Given the description of an element on the screen output the (x, y) to click on. 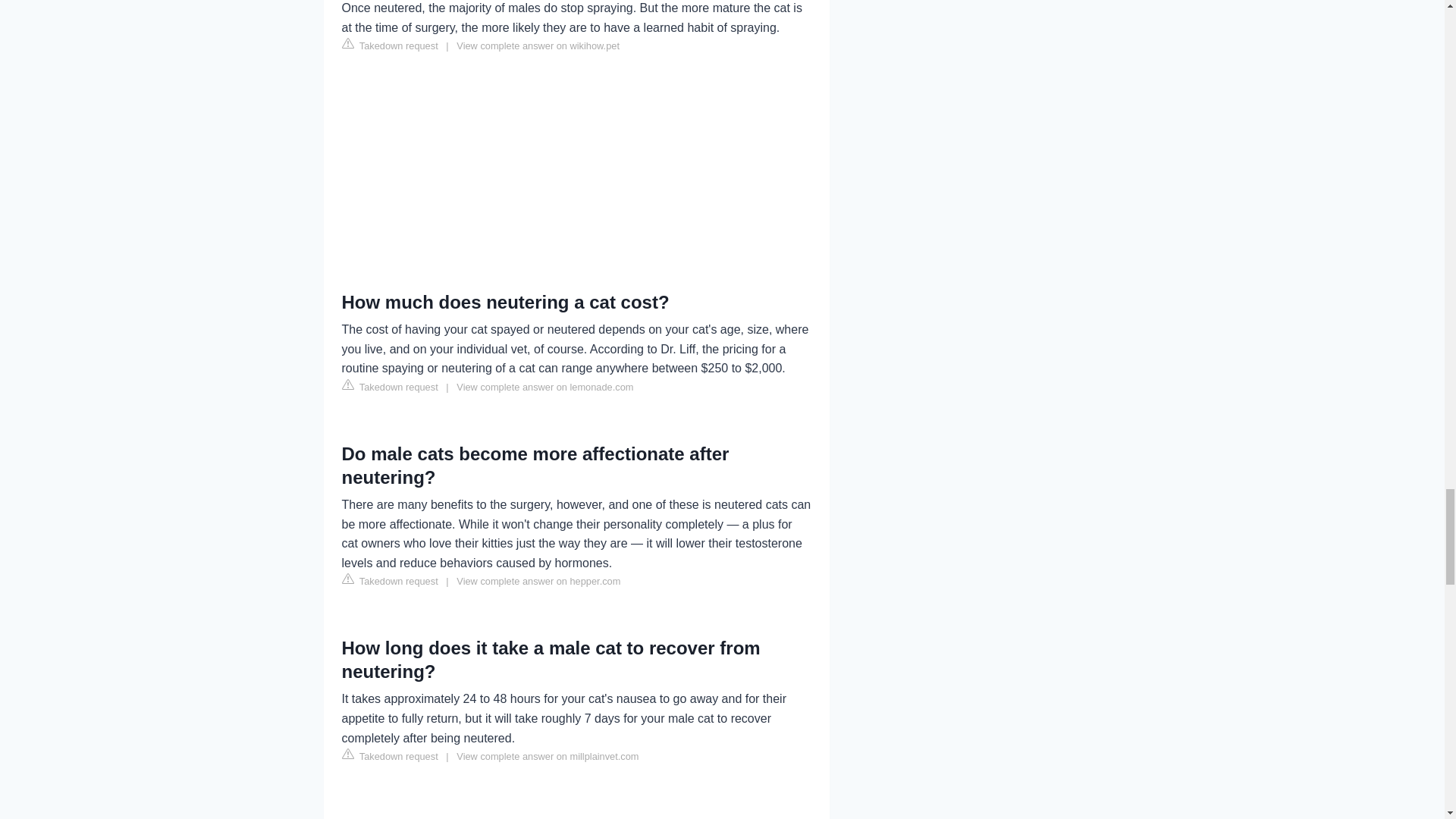
View complete answer on wikihow.pet (538, 45)
Takedown request (389, 386)
Takedown request (389, 45)
